Given the description of an element on the screen output the (x, y) to click on. 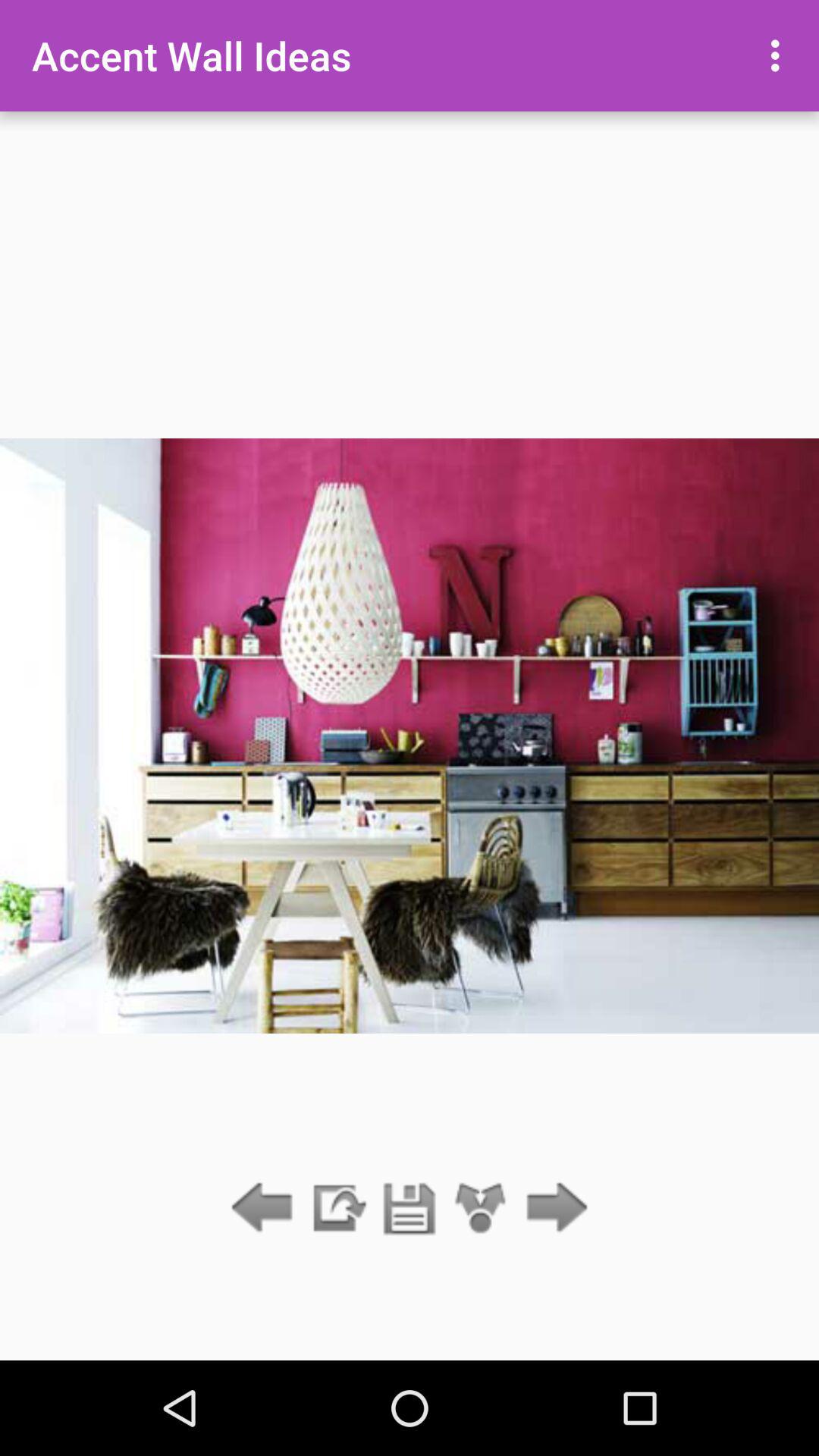
go back (266, 1209)
